Given the description of an element on the screen output the (x, y) to click on. 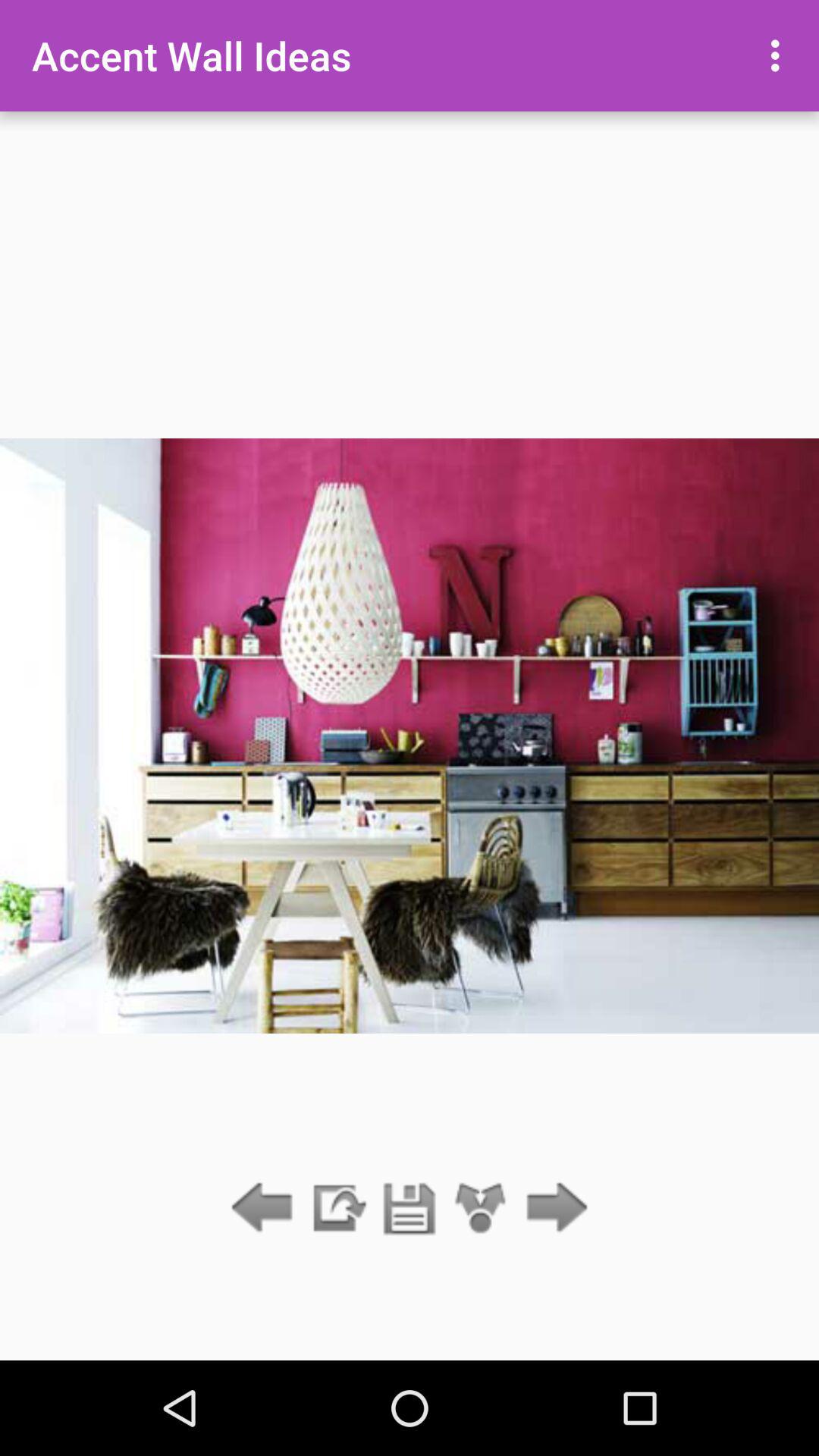
go back (266, 1209)
